Given the description of an element on the screen output the (x, y) to click on. 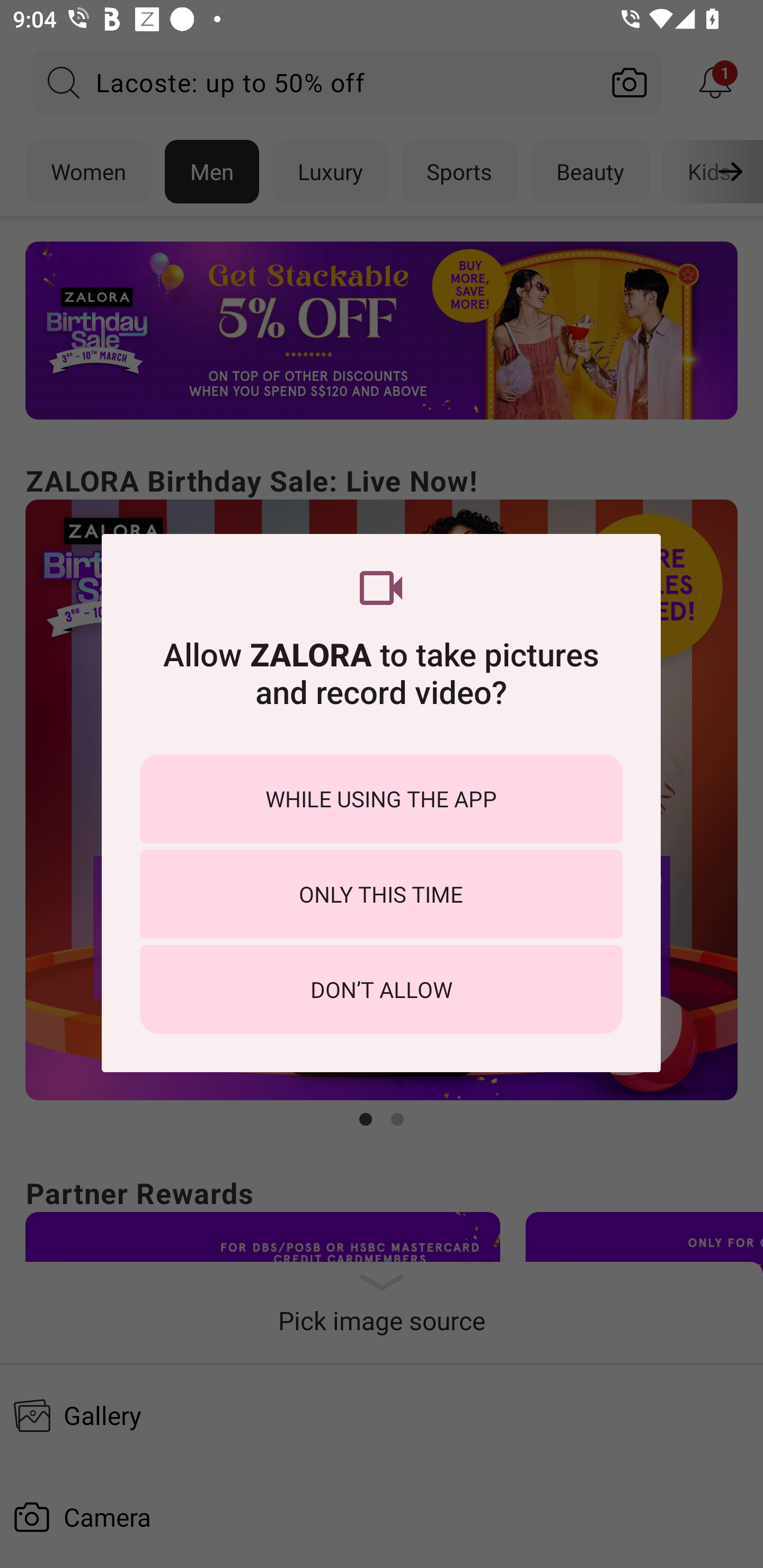
WHILE USING THE APP (380, 798)
ONLY THIS TIME (380, 894)
DON’T ALLOW (380, 989)
